Given the description of an element on the screen output the (x, y) to click on. 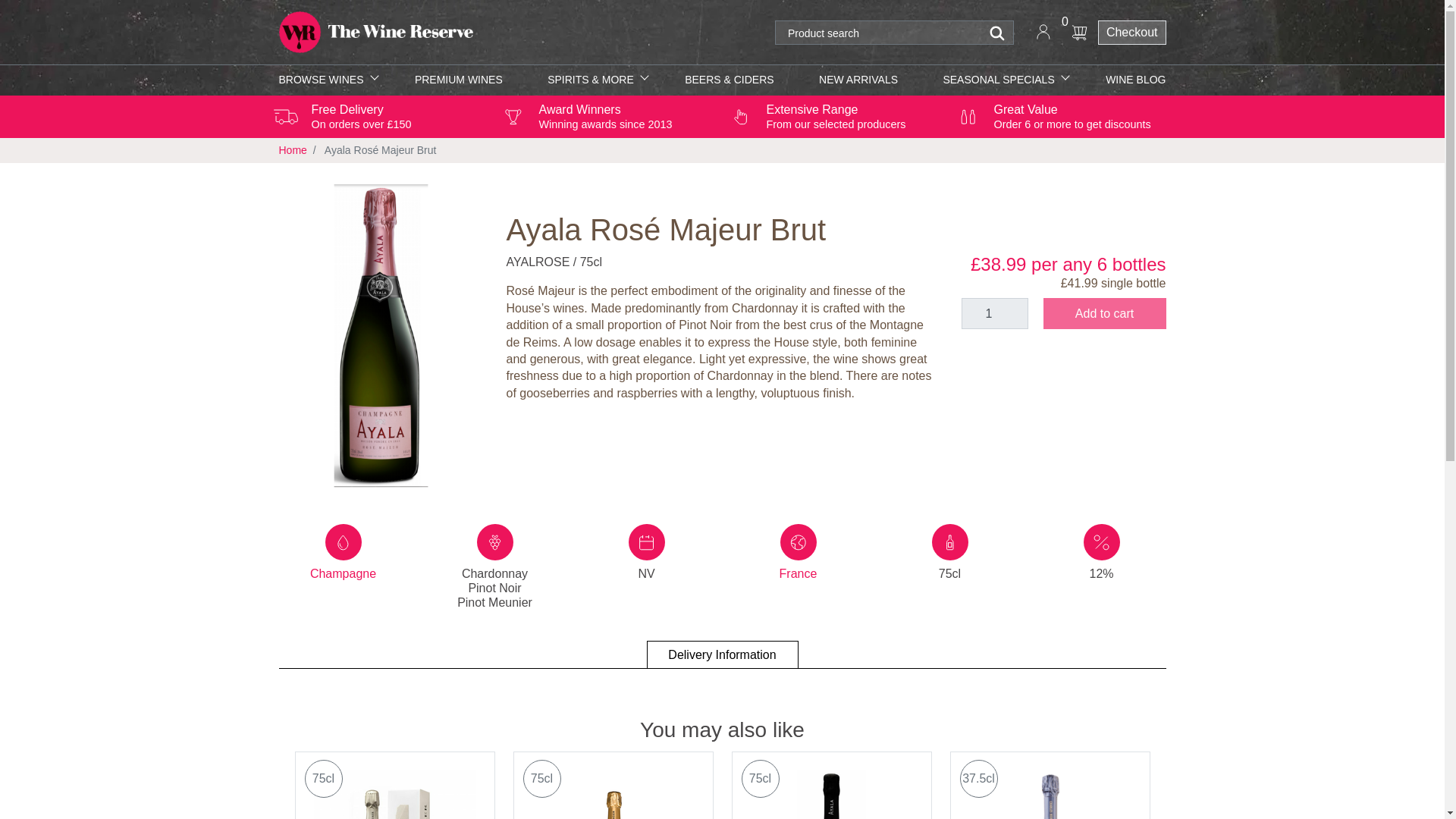
Type (342, 542)
PREMIUM WINES (458, 80)
Checkout (1131, 32)
BROWSE WINES (324, 80)
Order Checkout (1131, 32)
0 (1079, 32)
Add to cart (1104, 313)
1 (993, 313)
Blog (1135, 80)
Premium Wines (458, 80)
Search (998, 32)
Grape (494, 542)
Search (998, 32)
